Given the description of an element on the screen output the (x, y) to click on. 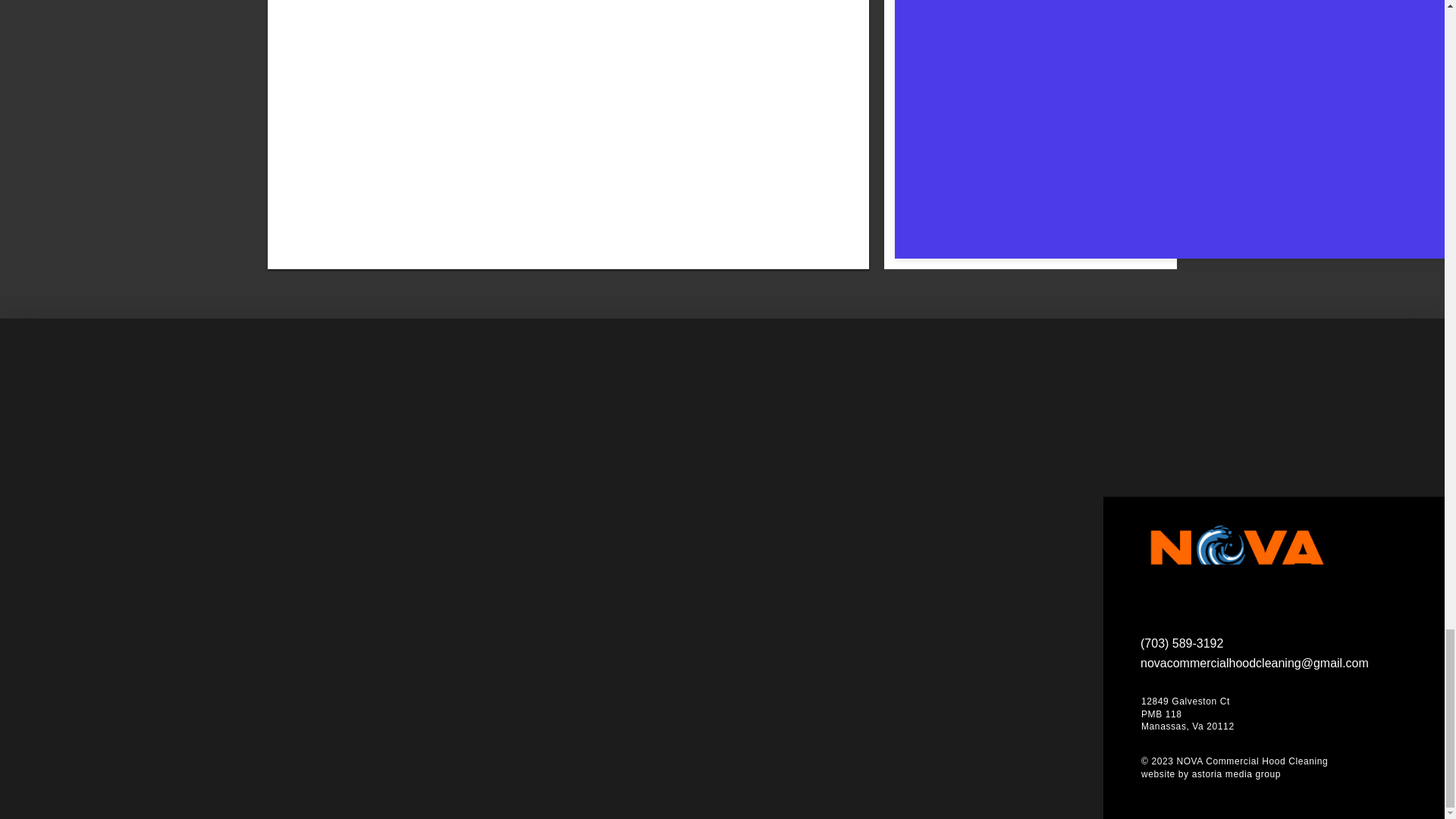
astoria media group (1236, 774)
